Given the description of an element on the screen output the (x, y) to click on. 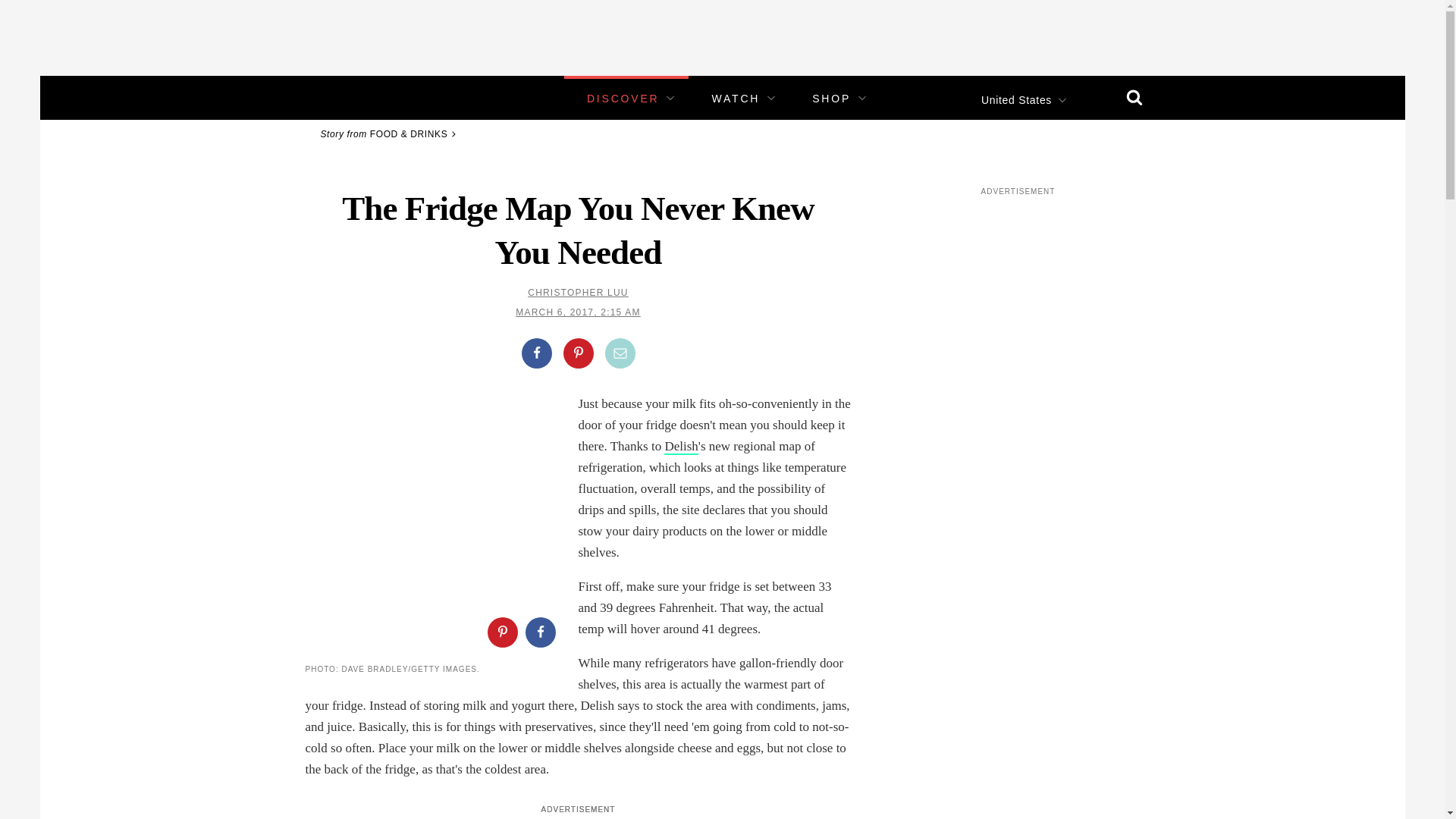
WATCH (735, 98)
Delish (680, 446)
MARCH 6, 2017, 2:15 AM (577, 312)
Share on Pinterest (577, 353)
Refinery29 (352, 97)
Share by Email (619, 353)
CHRISTOPHER LUU (577, 292)
Share on Pinterest (501, 632)
DISCOVER (622, 98)
SHOP (831, 98)
